Given the description of an element on the screen output the (x, y) to click on. 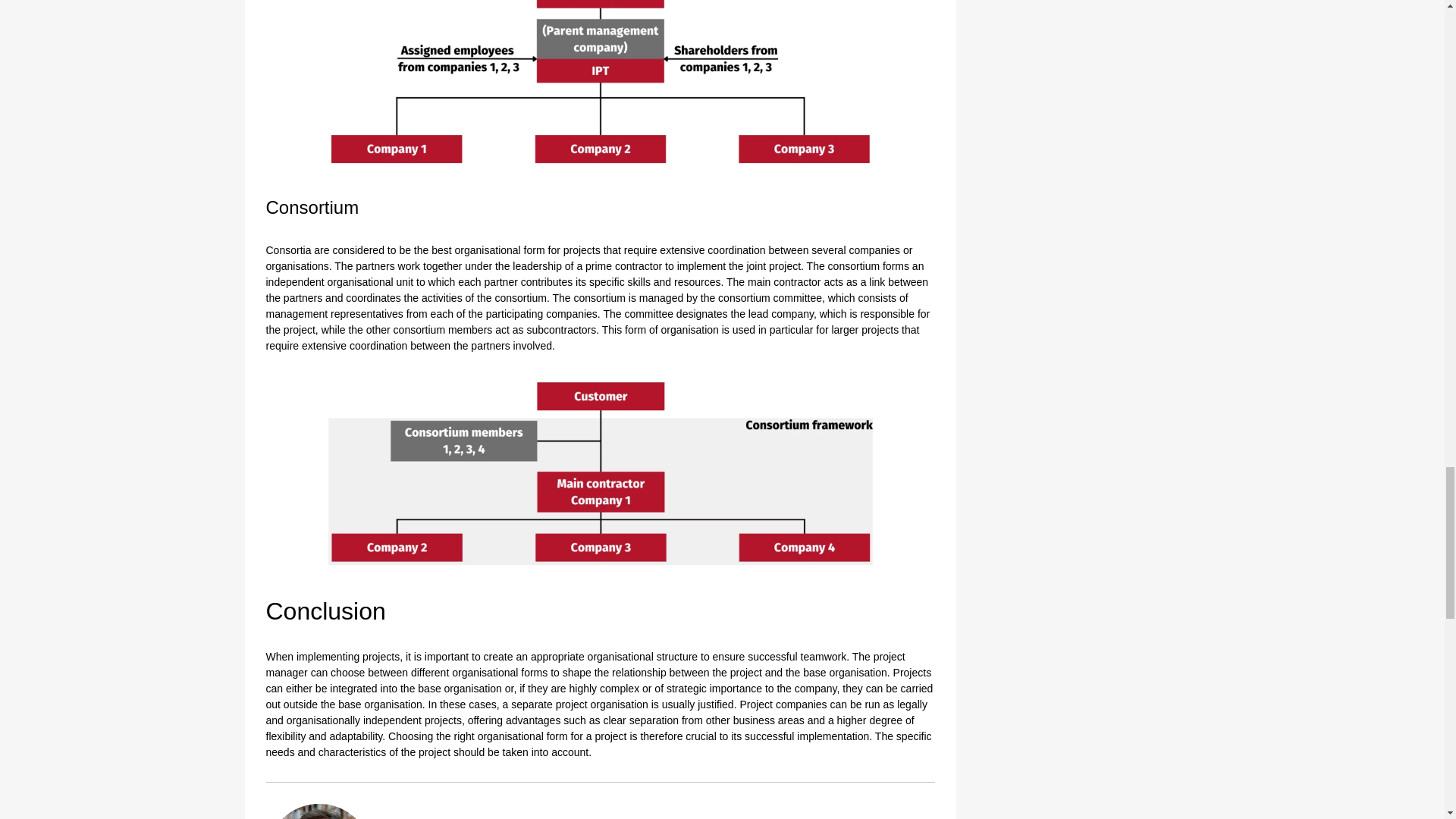
Project companies at a glance - the author (318, 811)
Consortial organisation (599, 472)
Integrated project team (599, 84)
